Given the description of an element on the screen output the (x, y) to click on. 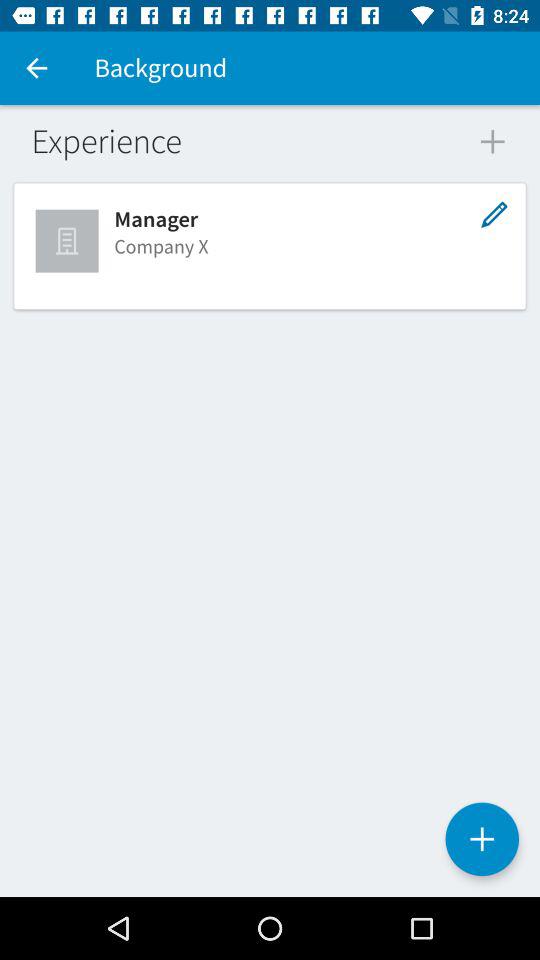
launch the item next to the background icon (36, 68)
